Given the description of an element on the screen output the (x, y) to click on. 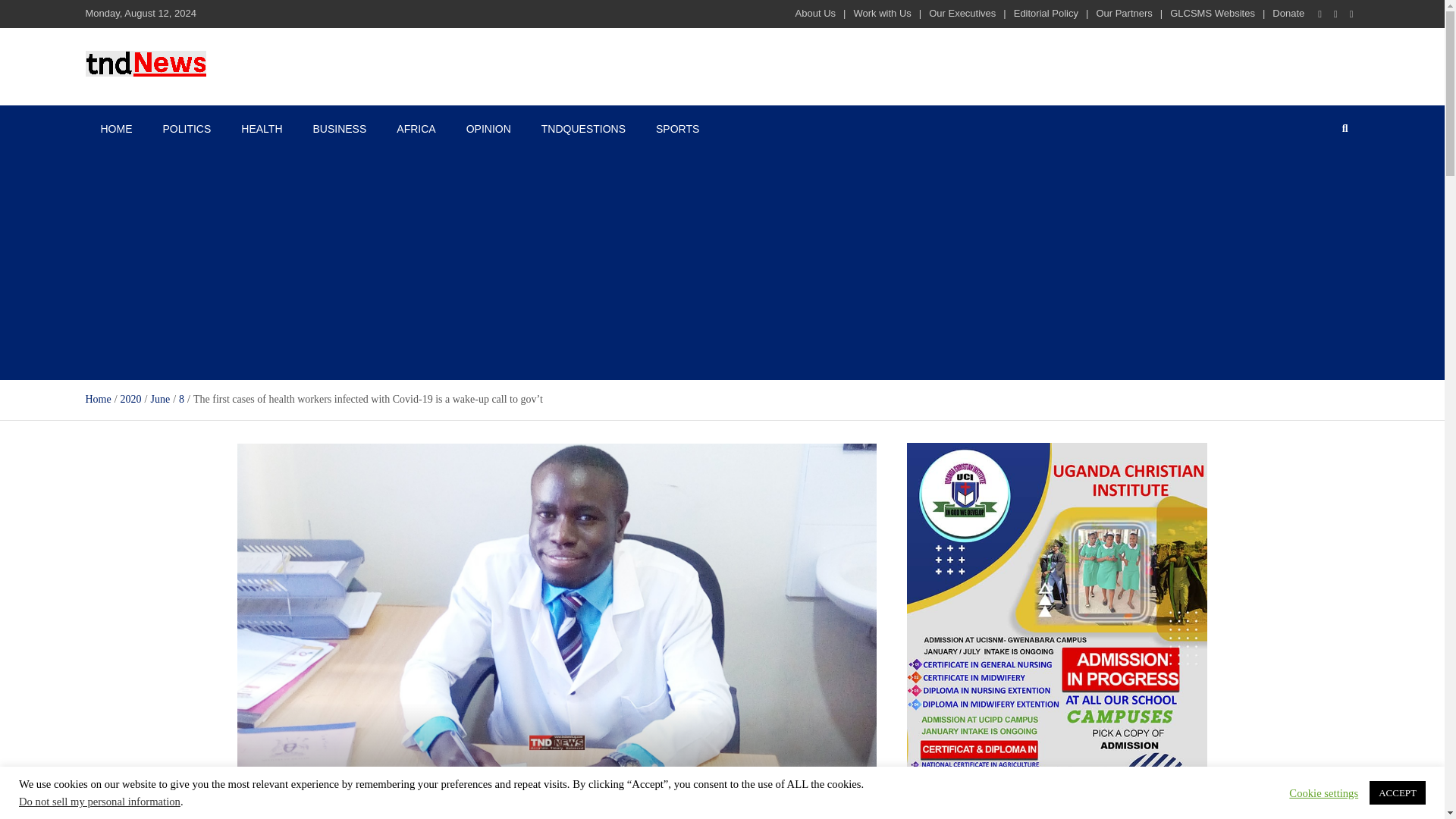
GLCSMS Websites (1212, 12)
Home (97, 398)
SPORTS (677, 128)
TNDQUESTIONS (582, 128)
2020 (130, 398)
AFRICA (415, 128)
BUSINESS (339, 128)
HOME (115, 128)
POLITICS (186, 128)
About Us (814, 12)
